Given the description of an element on the screen output the (x, y) to click on. 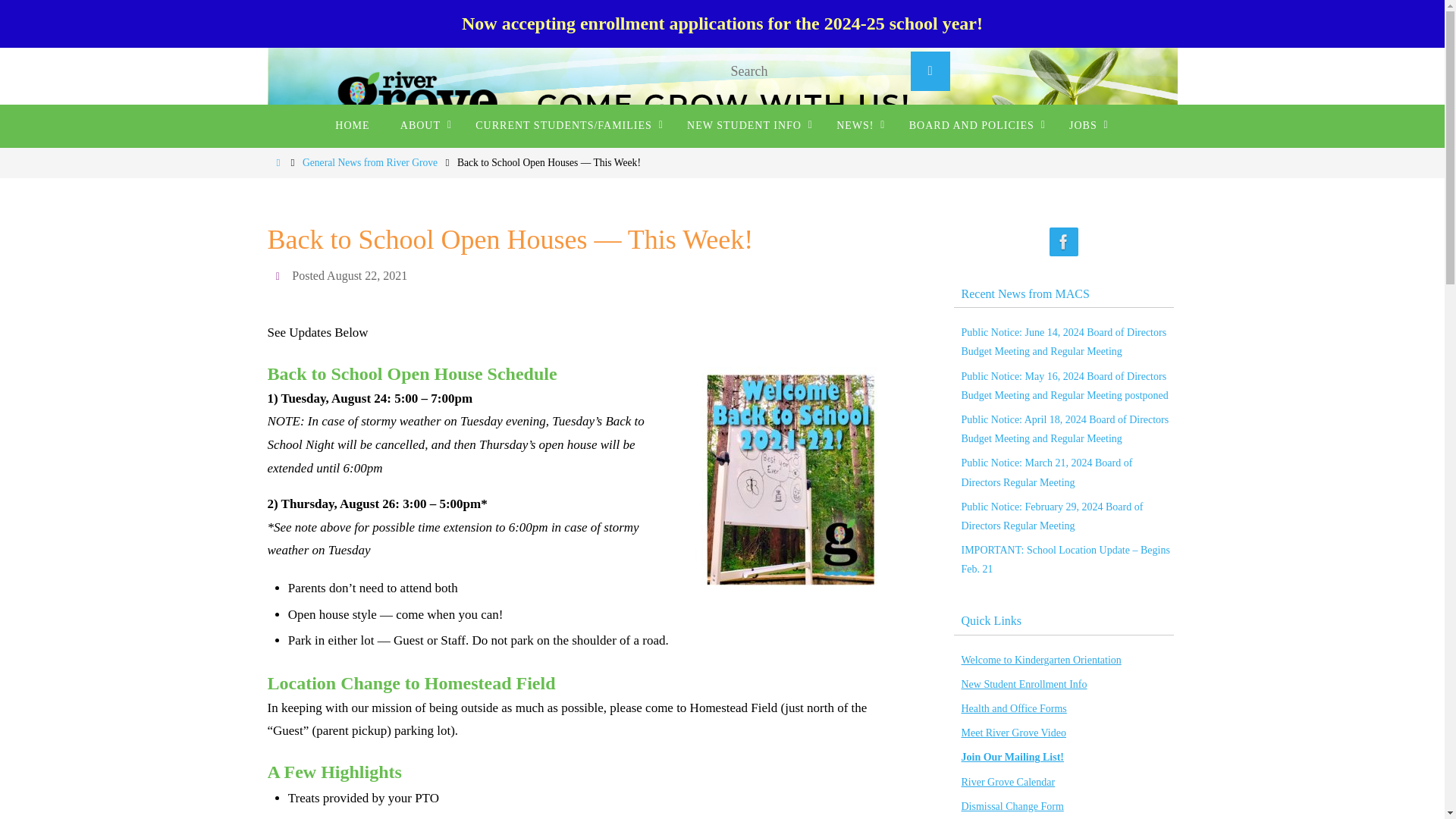
Date (278, 275)
HOME (351, 125)
Search (929, 70)
ABOUT (422, 125)
Facebook (1063, 242)
NEW STUDENT INFO (745, 125)
River Grove Elementary Charter School (721, 104)
